Given the description of an element on the screen output the (x, y) to click on. 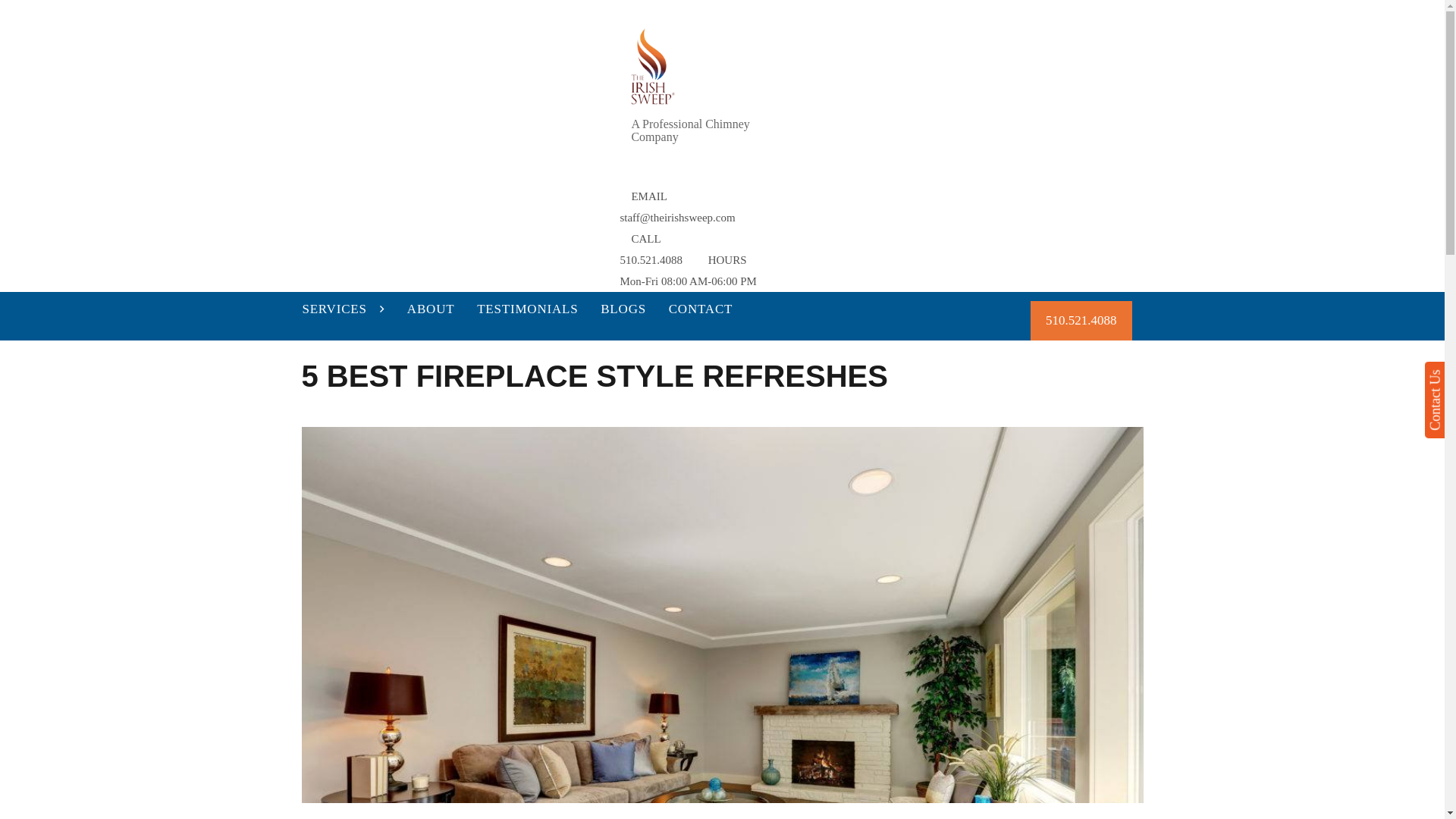
CONTACT (701, 309)
BLOGS (622, 309)
510.521.4088 (1081, 320)
ABOUT (430, 309)
TESTIMONIALS (527, 309)
510.521.4088 (651, 259)
SERVICES (343, 309)
